Given the description of an element on the screen output the (x, y) to click on. 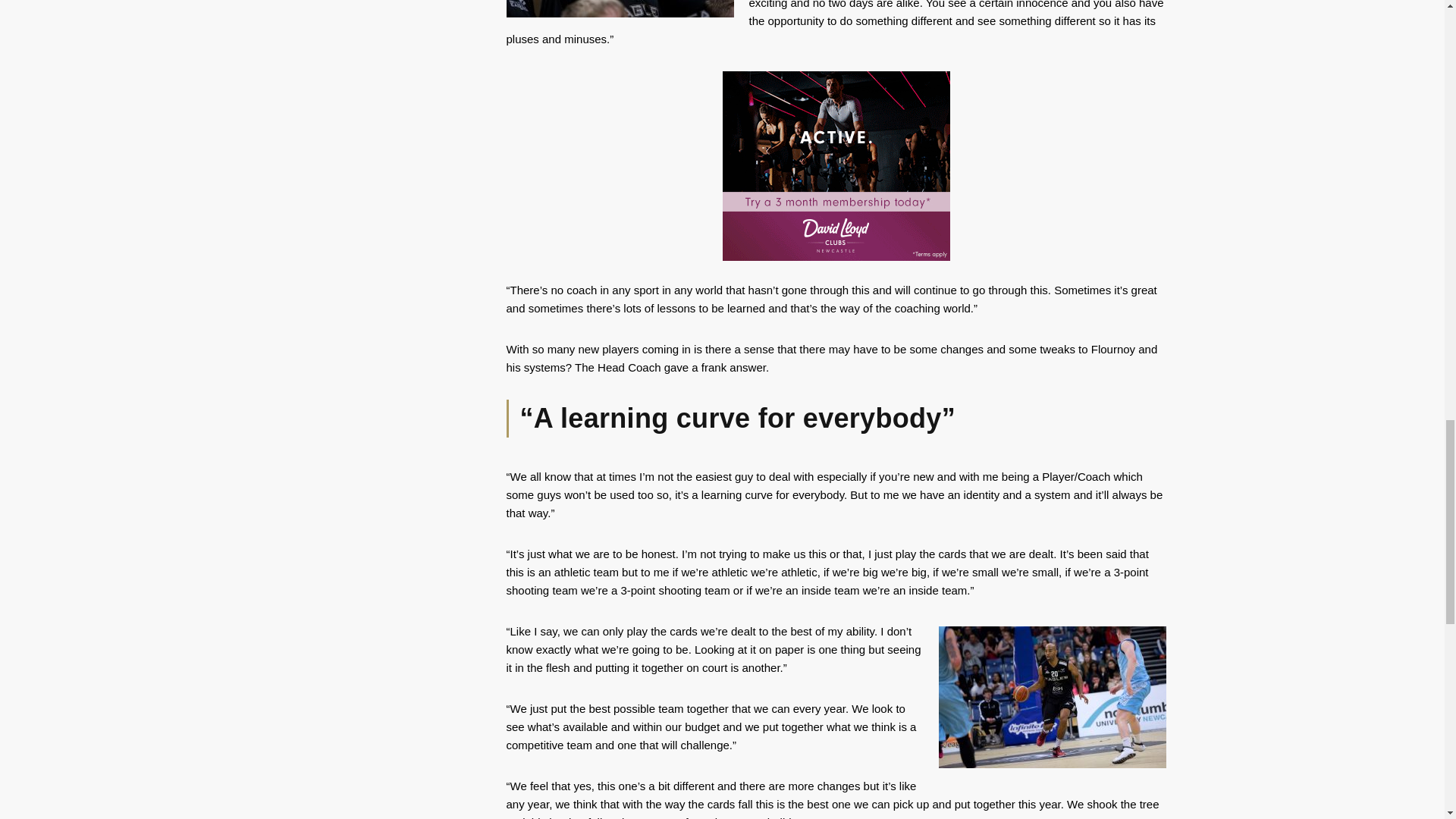
Newcastle-BAU-300x250 (835, 166)
